Given the description of an element on the screen output the (x, y) to click on. 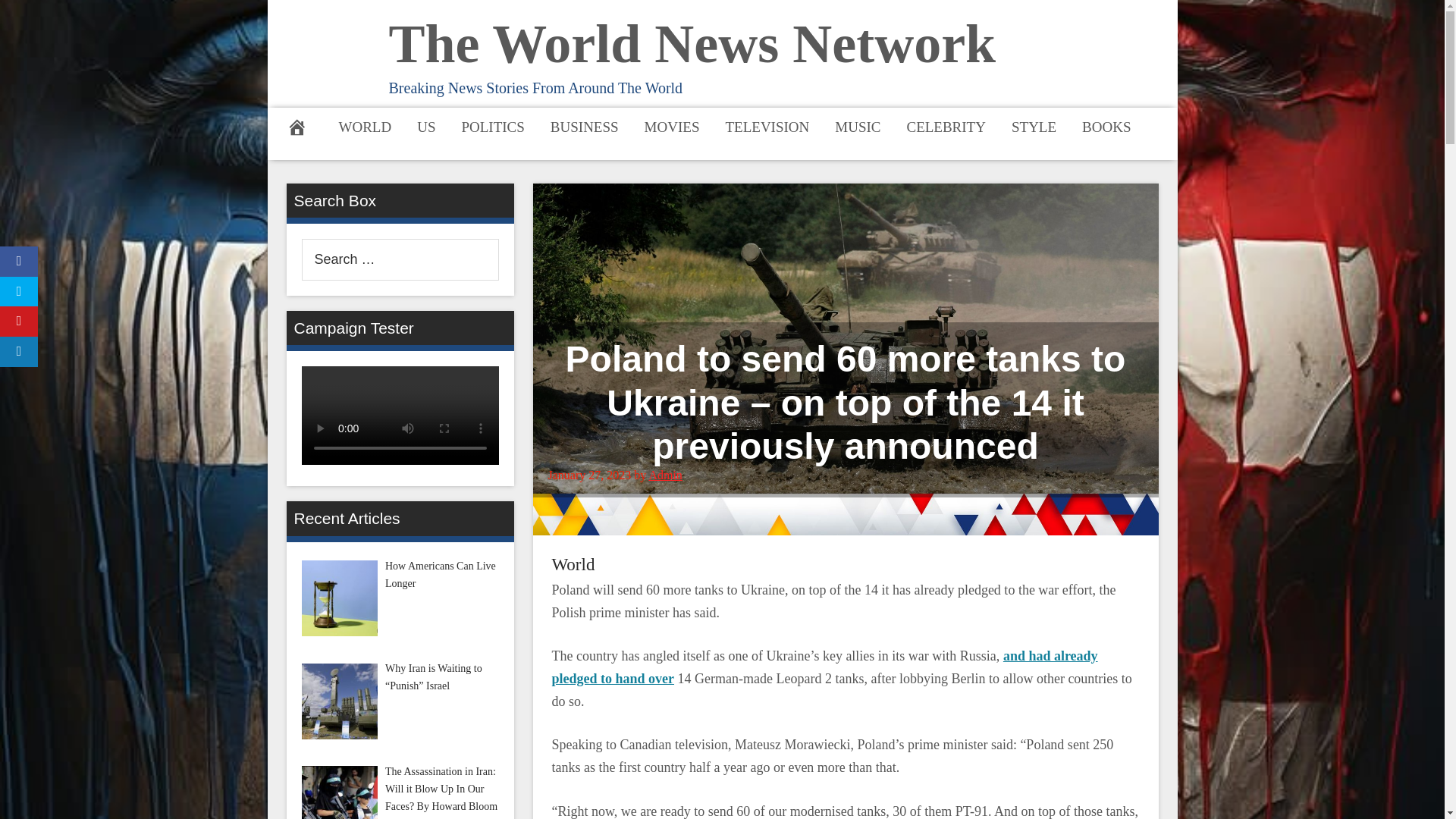
STYLE (1033, 126)
BOOKS (1105, 126)
CELEBRITY (945, 126)
World (573, 564)
TELEVISION (766, 126)
POLITICS (492, 126)
WORLD (365, 126)
US (426, 126)
